Given the description of an element on the screen output the (x, y) to click on. 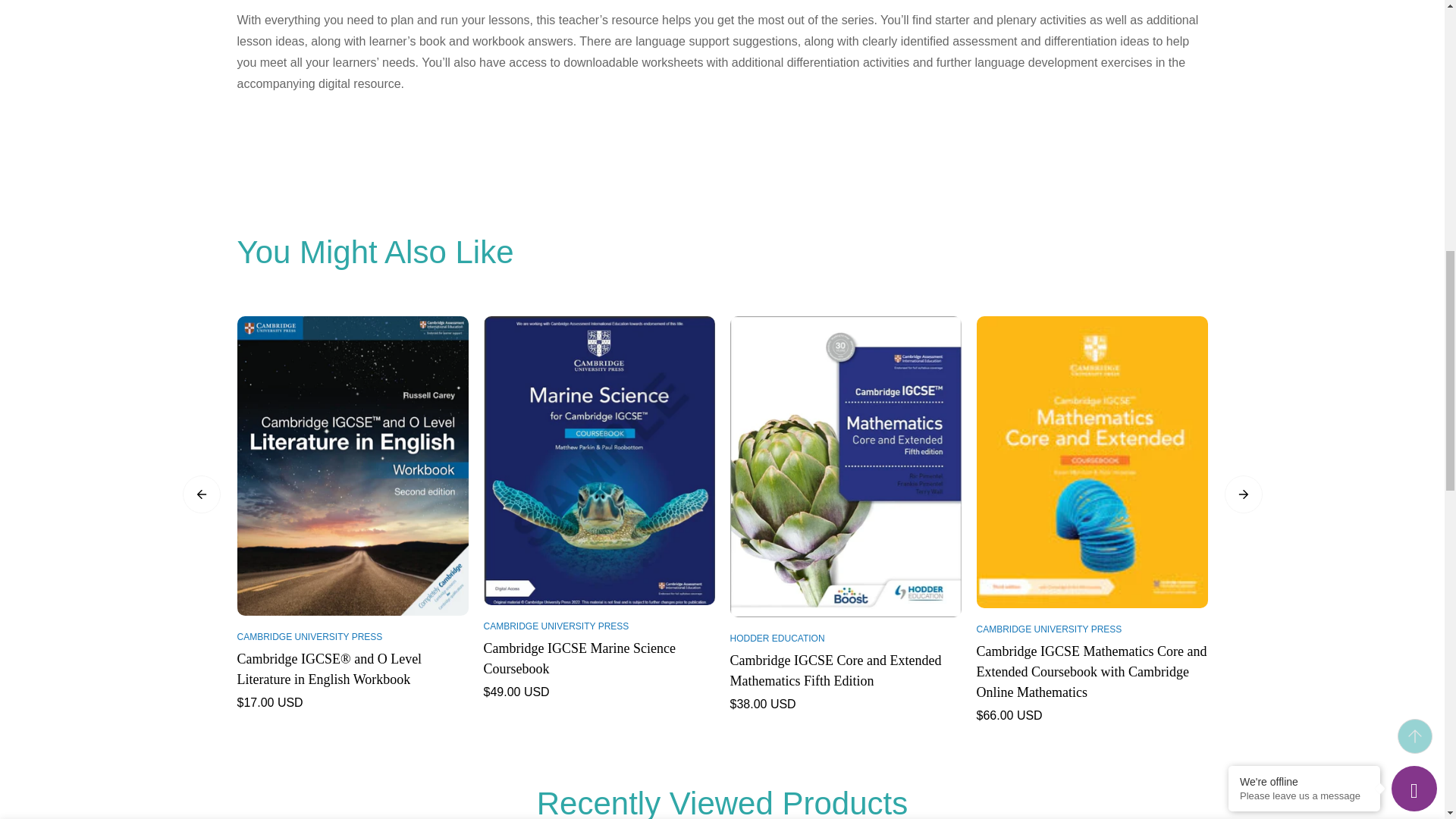
1 (1020, 28)
